Given the description of an element on the screen output the (x, y) to click on. 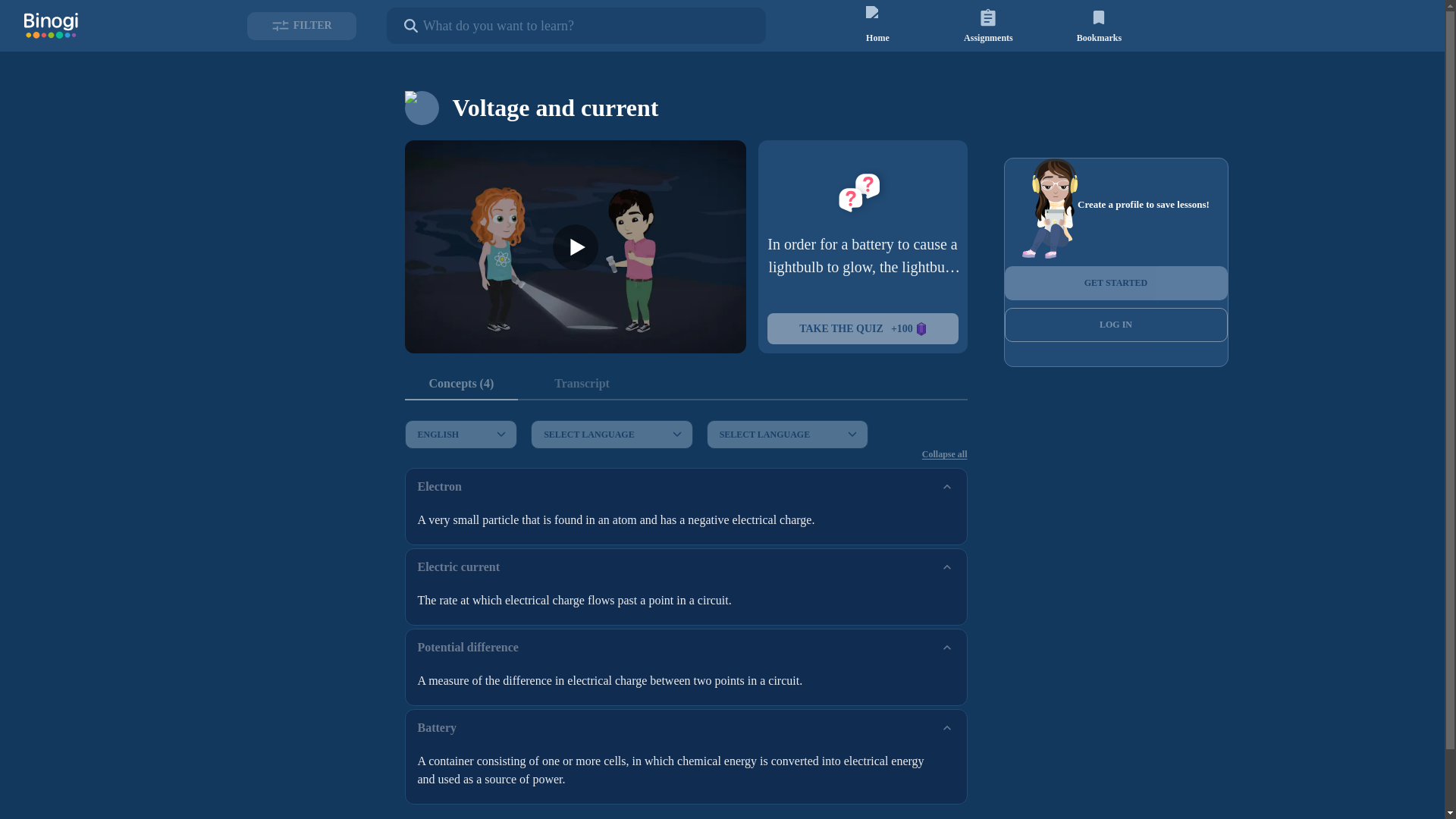
Home (877, 24)
Transcript (581, 384)
Electron (685, 486)
de (506, 404)
Bookmarks (1098, 24)
SELECT LANGUAGE (786, 434)
Collapse all (944, 454)
Potential difference (685, 647)
LOG IN (1115, 324)
pl (506, 480)
Battery (685, 728)
SELECT LANGUAGE (612, 434)
Electric current (685, 566)
en (506, 422)
ENGLISH (461, 434)
